Given the description of an element on the screen output the (x, y) to click on. 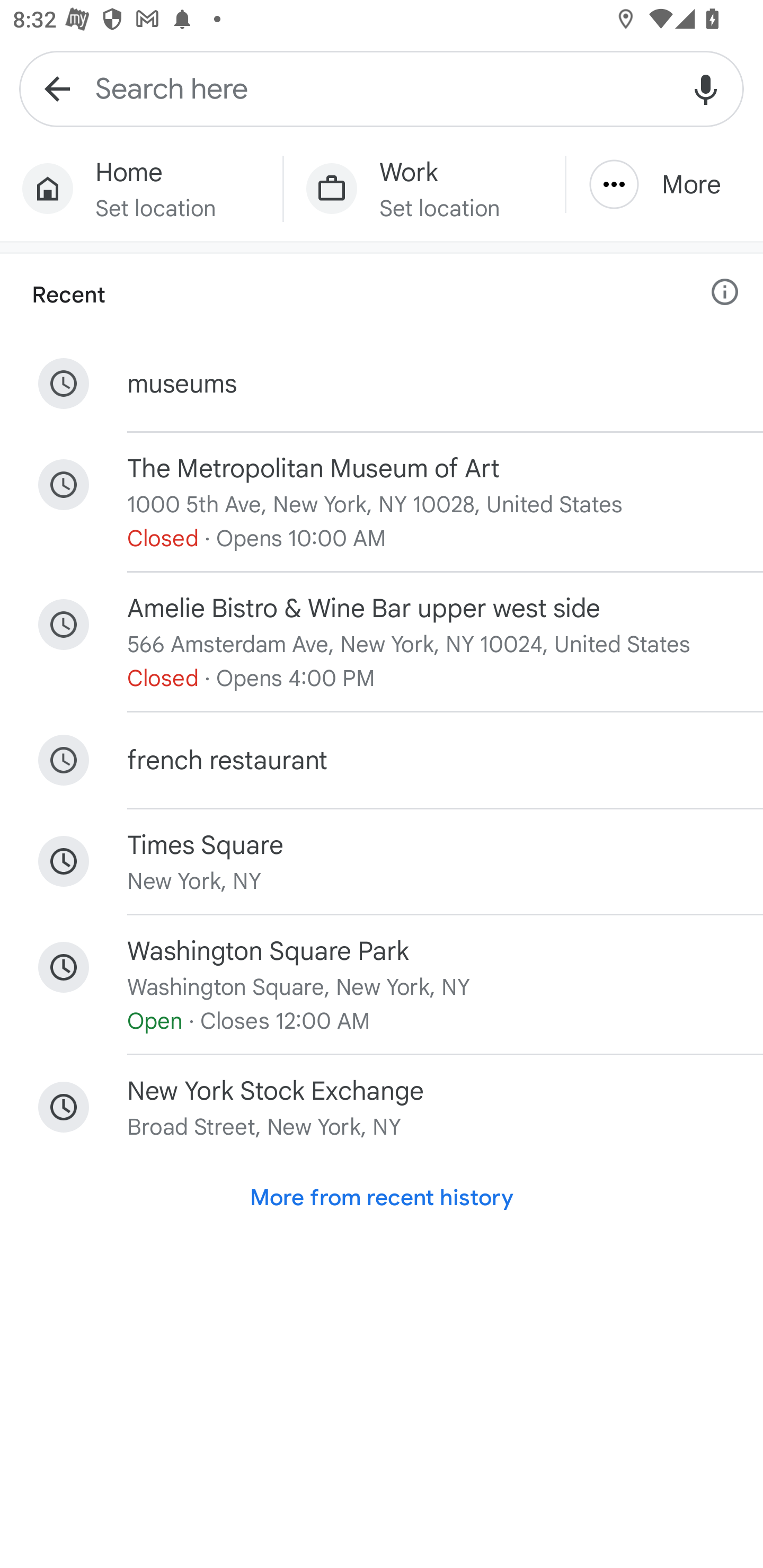
Navigate up (57, 88)
Search here (381, 88)
Voice search (705, 88)
Home Set location (141, 188)
Work Set location (423, 188)
More (664, 184)
museums (381, 383)
french restaurant (381, 759)
Times Square New York, NY (381, 861)
New York Stock Exchange Broad Street, New York, NY (381, 1107)
More from recent history (381, 1197)
